Given the description of an element on the screen output the (x, y) to click on. 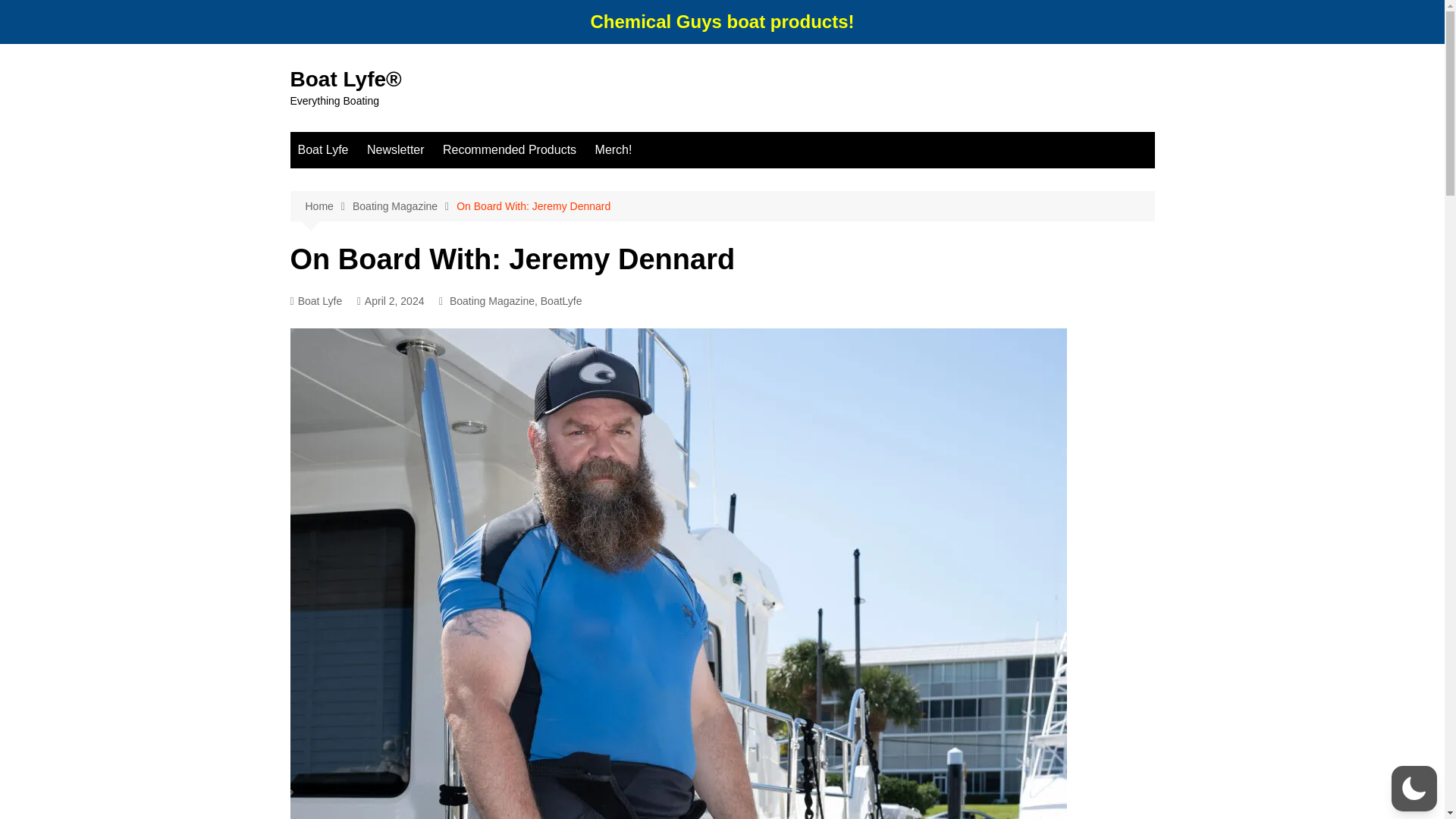
Merch! (614, 149)
Recommended Products (509, 149)
BoatLyfe (561, 300)
April 2, 2024 (390, 301)
Newsletter (395, 149)
Boat Lyfe (322, 149)
Boating Magazine (404, 206)
Boating Magazine (491, 300)
Chemical Guys boat products! (721, 21)
Boat Lyfe (315, 301)
Home (328, 206)
On Board With: Jeremy Dennard (533, 206)
